Given the description of an element on the screen output the (x, y) to click on. 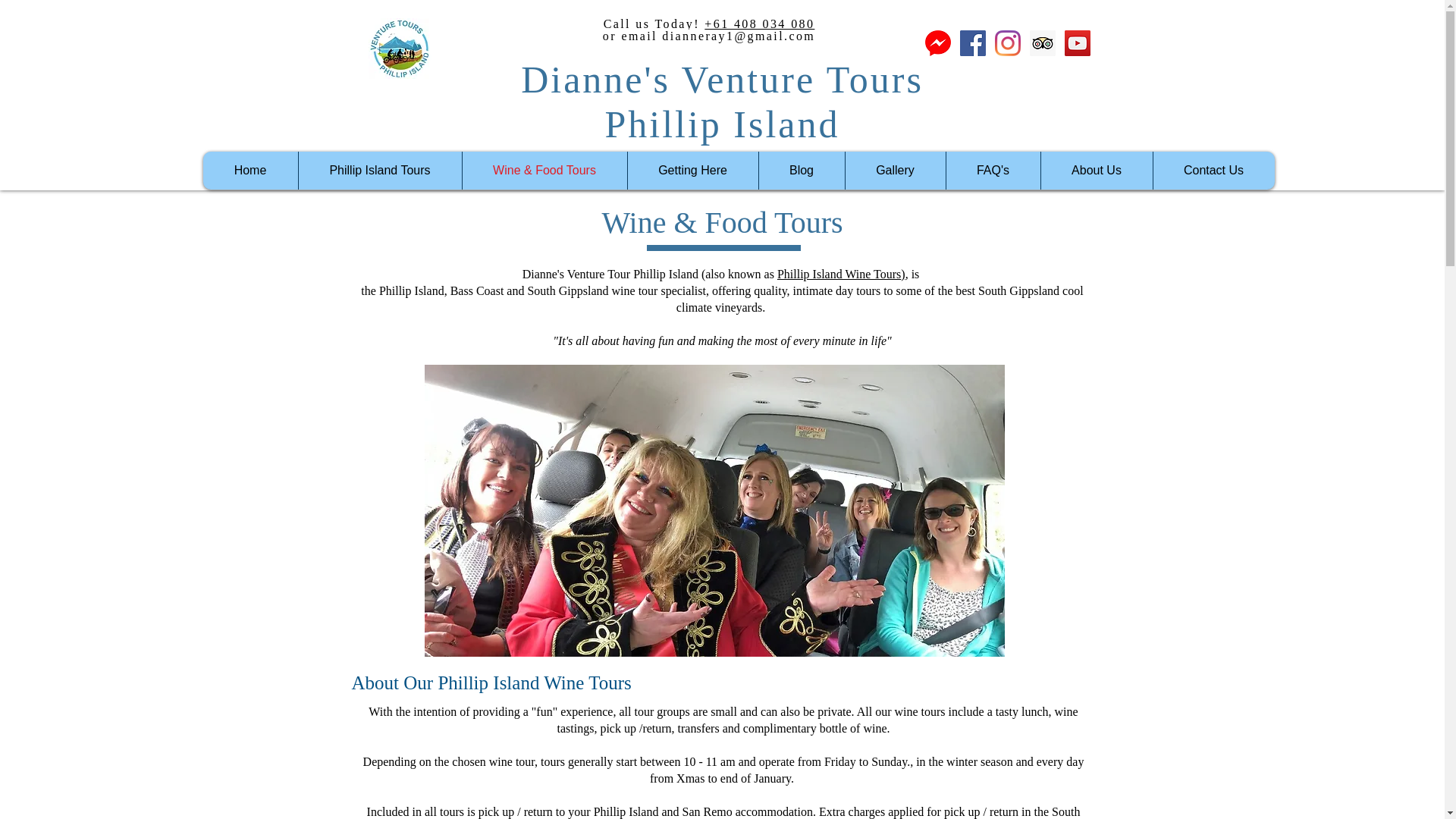
About Us Element type: text (1096, 170)
Gallery Element type: text (894, 170)
Blog Element type: text (801, 170)
Phillip Island Wine Tours Element type: text (838, 273)
Home Element type: text (250, 170)
FAQ's Element type: text (991, 170)
+61 408 034 080 Element type: text (759, 23)
) Element type: text (902, 273)
Getting Here Element type: text (691, 170)
dianneray1@gmail.com Element type: text (738, 35)
Contact Us Element type: text (1213, 170)
Phillip Island Tours Element type: text (379, 170)
Dianne's Venture Tours Element type: text (721, 79)
Wine & Food Tours Element type: text (543, 170)
